Given the description of an element on the screen output the (x, y) to click on. 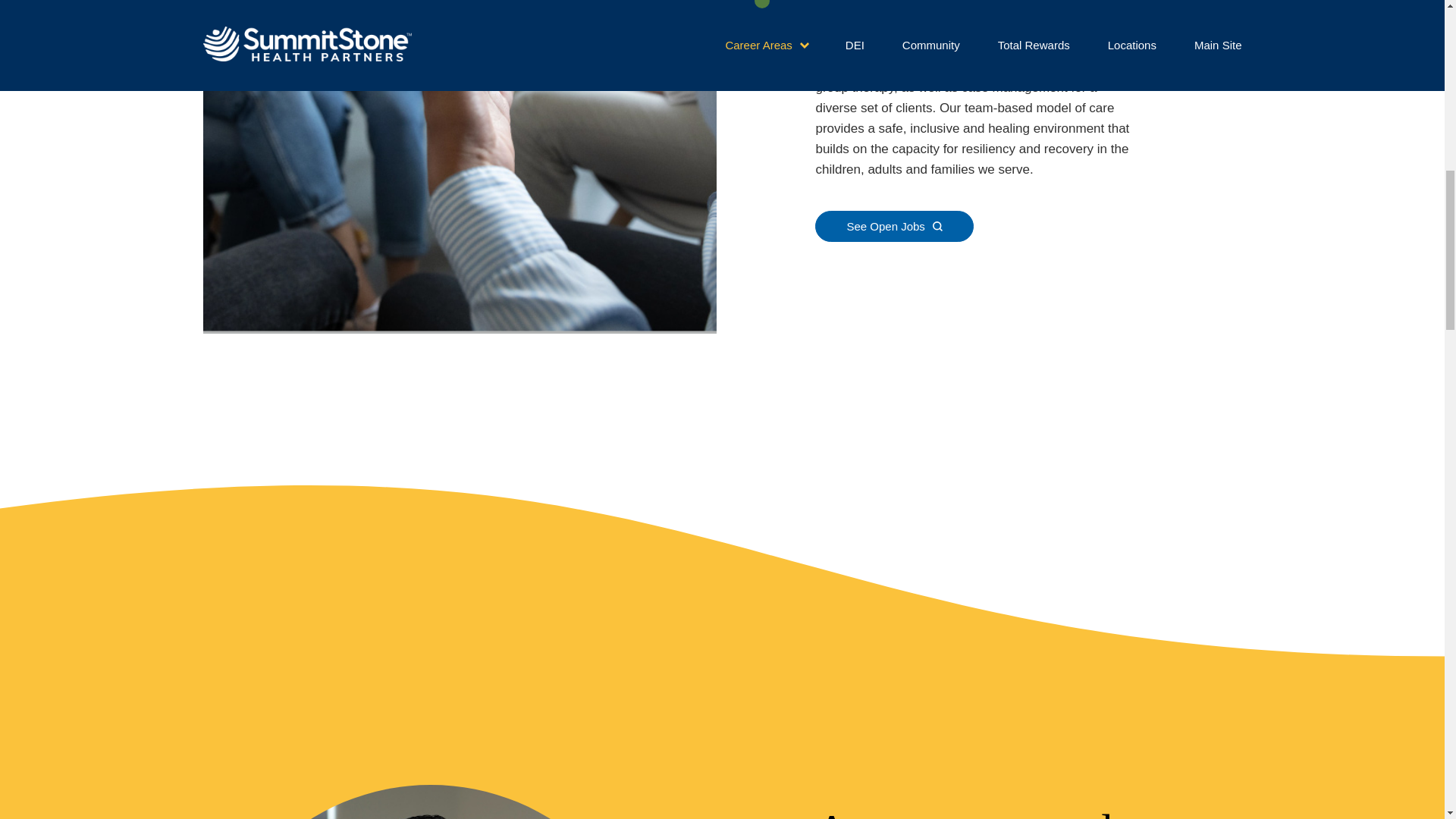
See Open Jobs (893, 225)
